Given the description of an element on the screen output the (x, y) to click on. 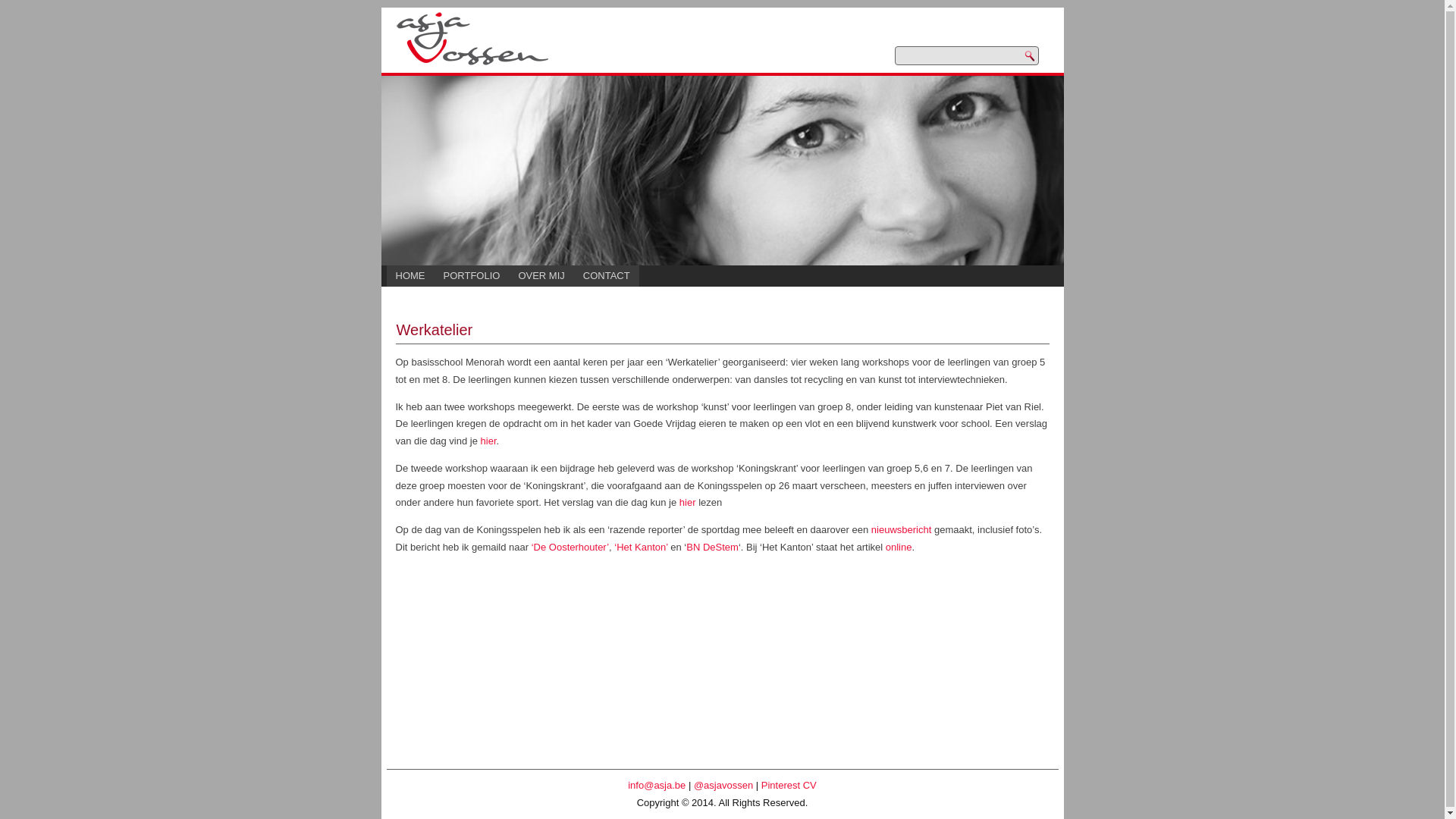
Pinterest CV Element type: text (788, 784)
BN DeStem Element type: text (712, 546)
info@asja.be Element type: text (656, 784)
CONTACT Element type: text (606, 275)
PORTFOLIO Element type: text (470, 275)
OVER MIJ Element type: text (540, 275)
hier Element type: text (488, 440)
hier Element type: text (687, 502)
online Element type: text (898, 546)
@asjavossen Element type: text (723, 784)
nieuwsbericht Element type: text (901, 529)
HOME Element type: text (410, 275)
